Given the description of an element on the screen output the (x, y) to click on. 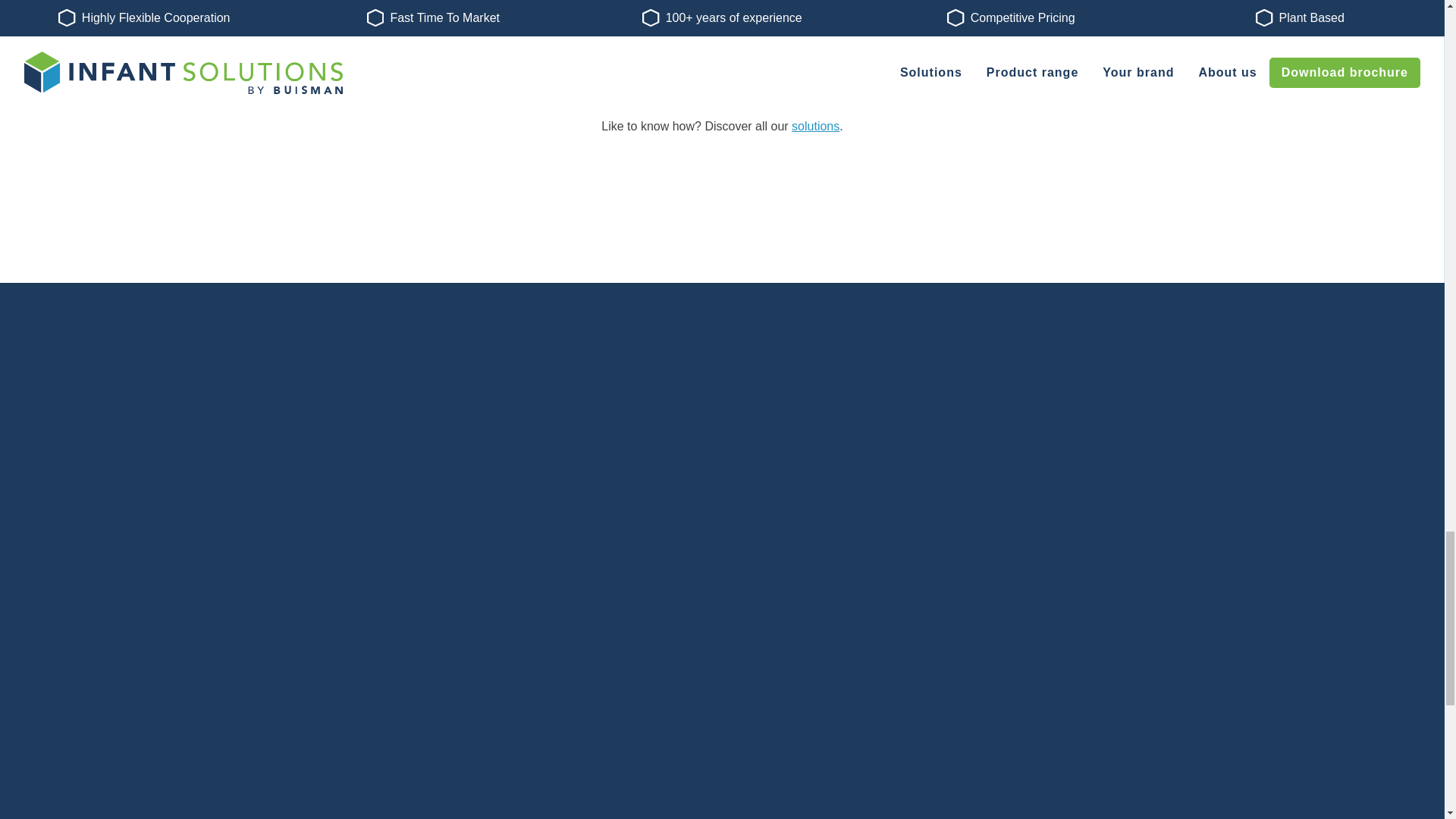
solutions (816, 125)
